Given the description of an element on the screen output the (x, y) to click on. 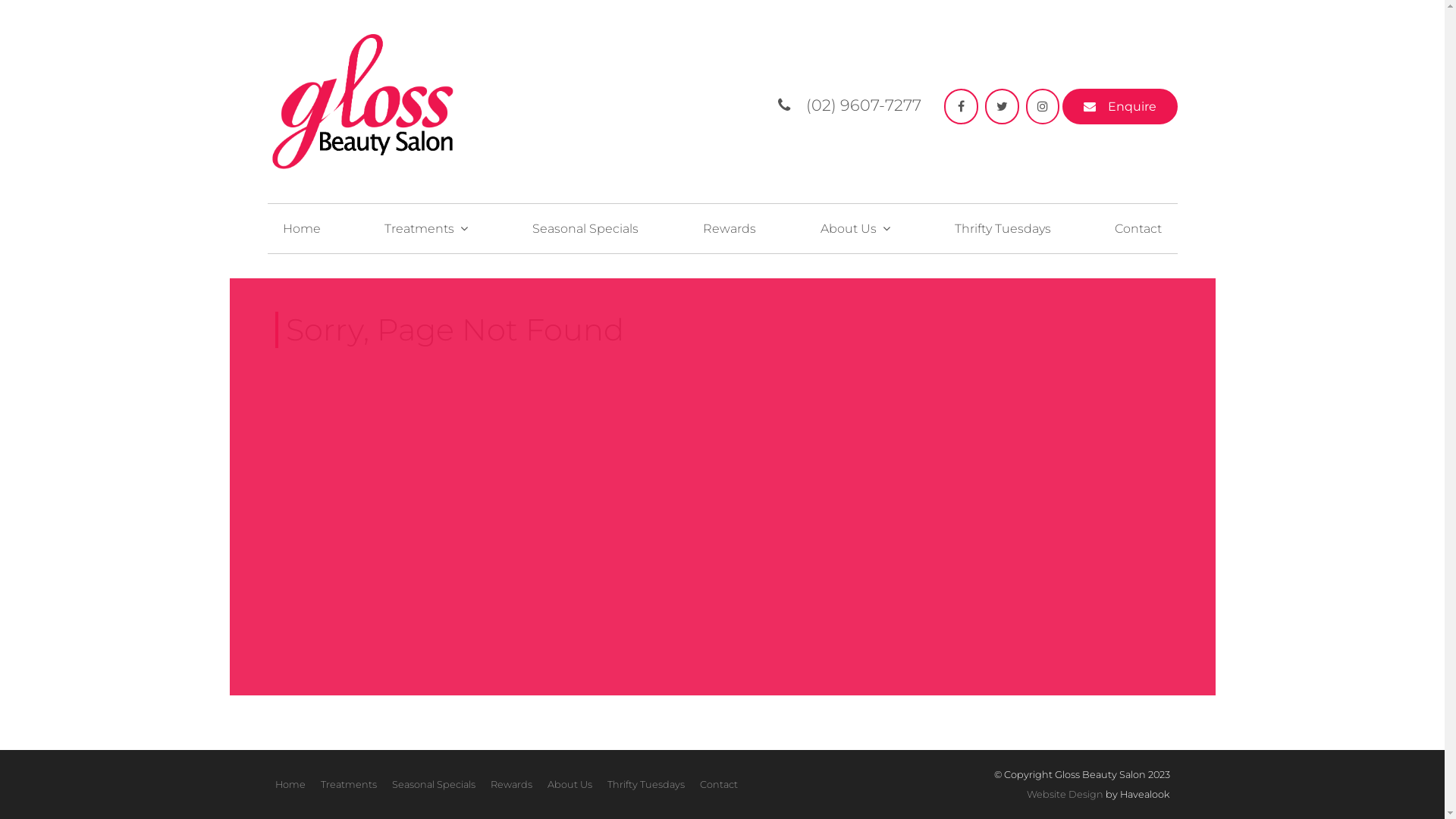
Home Element type: text (300, 228)
Home Element type: text (289, 784)
Thrifty Tuesdays Element type: text (1002, 228)
Enquire Element type: text (1119, 106)
Treatments Element type: text (425, 228)
Seasonal Specials Element type: text (432, 784)
Contact Element type: text (717, 784)
Rewards Element type: text (510, 784)
Seasonal Specials Element type: text (585, 228)
Rewards Element type: text (729, 228)
About Us Element type: text (854, 228)
Website Design Element type: text (1064, 794)
Treatments Element type: text (347, 784)
Contact Element type: text (1138, 228)
Thrifty Tuesdays Element type: text (645, 784)
About Us Element type: text (569, 784)
